Given the description of an element on the screen output the (x, y) to click on. 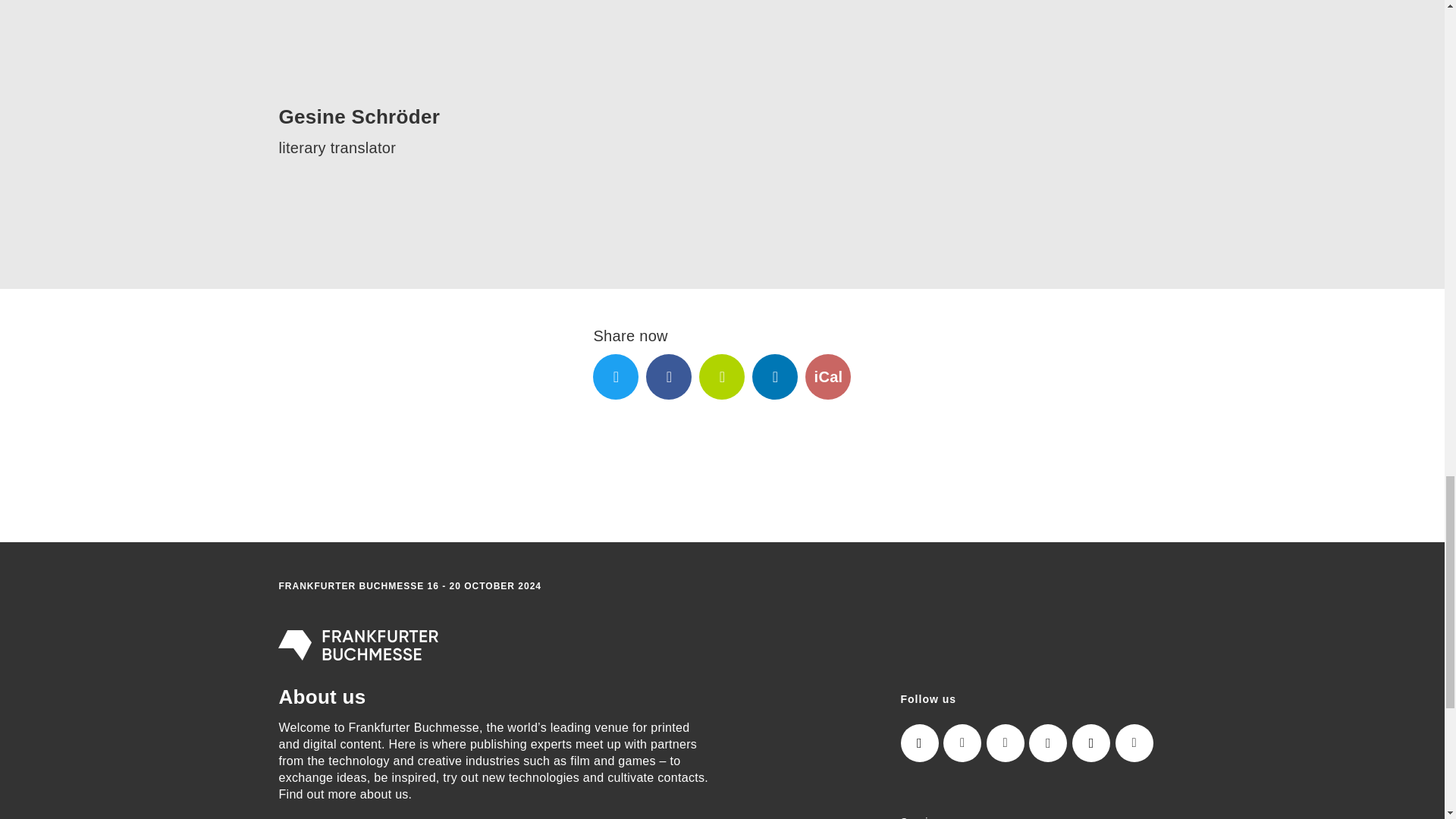
Youtube (1134, 742)
Facebook (1048, 742)
Instagram (920, 742)
iCal (827, 376)
Twitter (1006, 742)
Xing (721, 376)
TikTok (1090, 742)
Twitter (615, 376)
Facebook (668, 376)
Linkedin (774, 376)
